Given the description of an element on the screen output the (x, y) to click on. 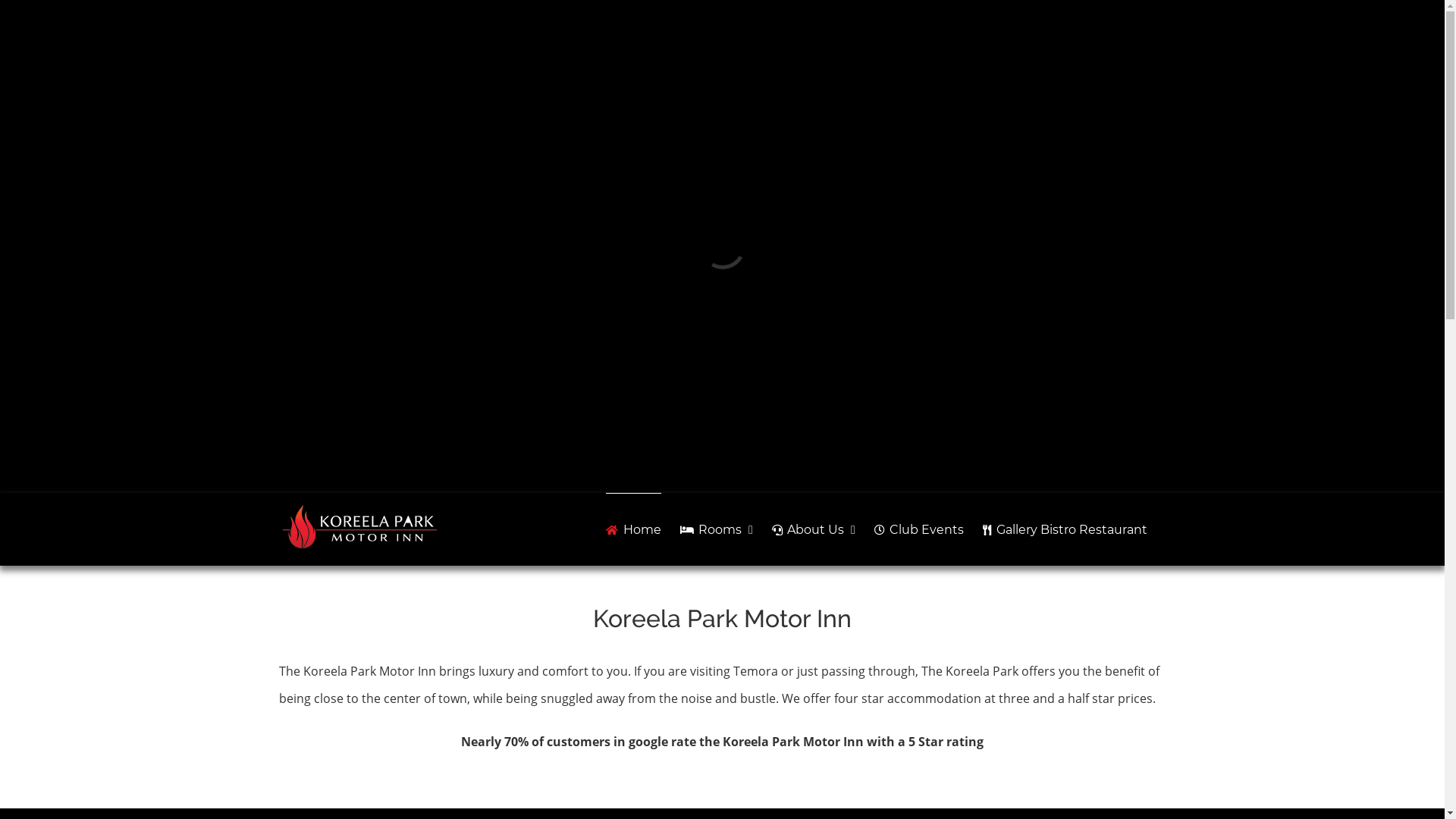
Home Element type: text (632, 528)
About Us Element type: text (813, 528)
5 Star rating Element type: text (945, 741)
Rooms Element type: text (716, 528)
Club Events Element type: text (918, 528)
Gallery Bistro Restaurant Element type: text (1064, 528)
